Given the description of an element on the screen output the (x, y) to click on. 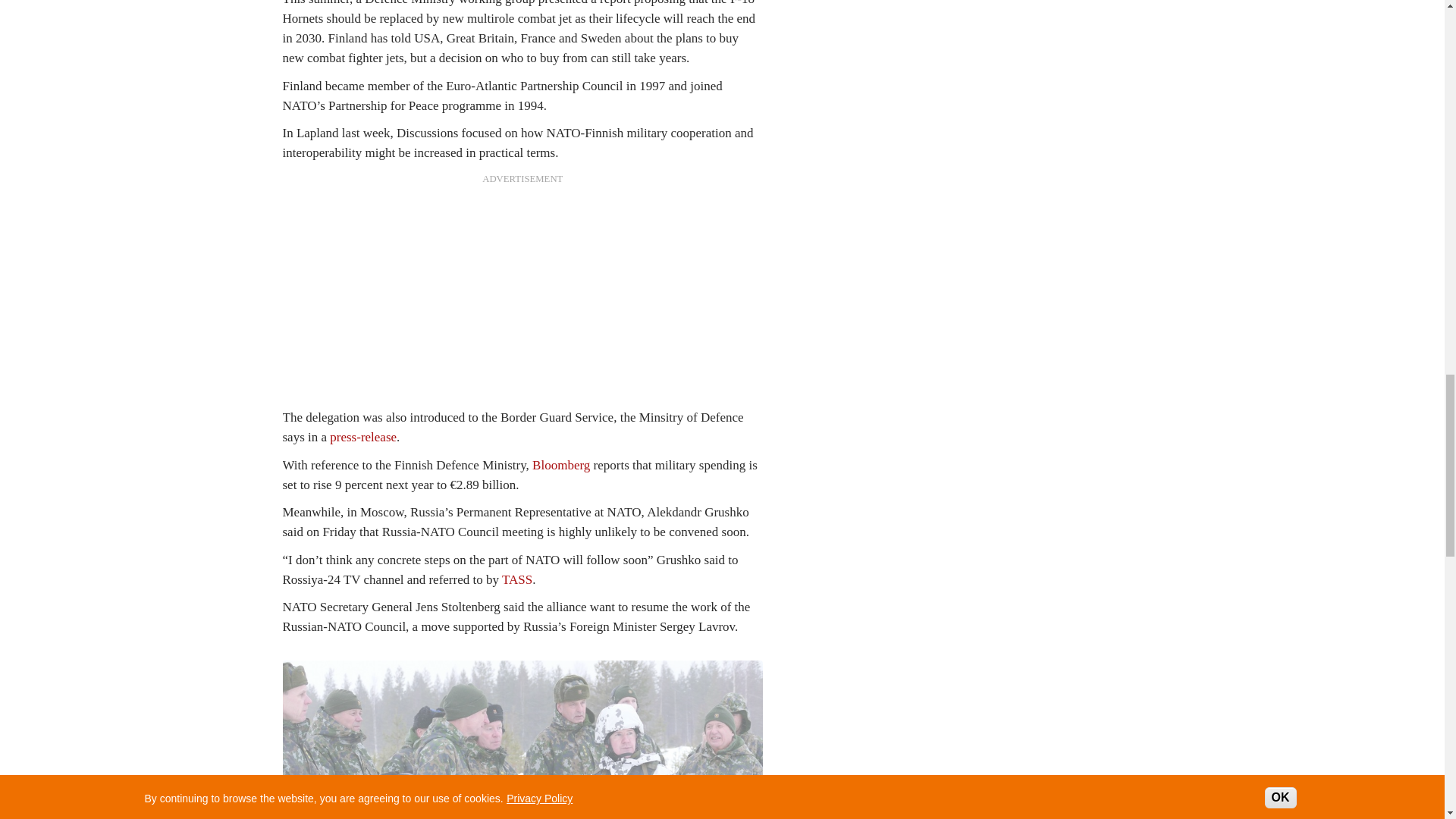
TASS (517, 579)
press-release (363, 436)
Bloomberg (560, 464)
